Given the description of an element on the screen output the (x, y) to click on. 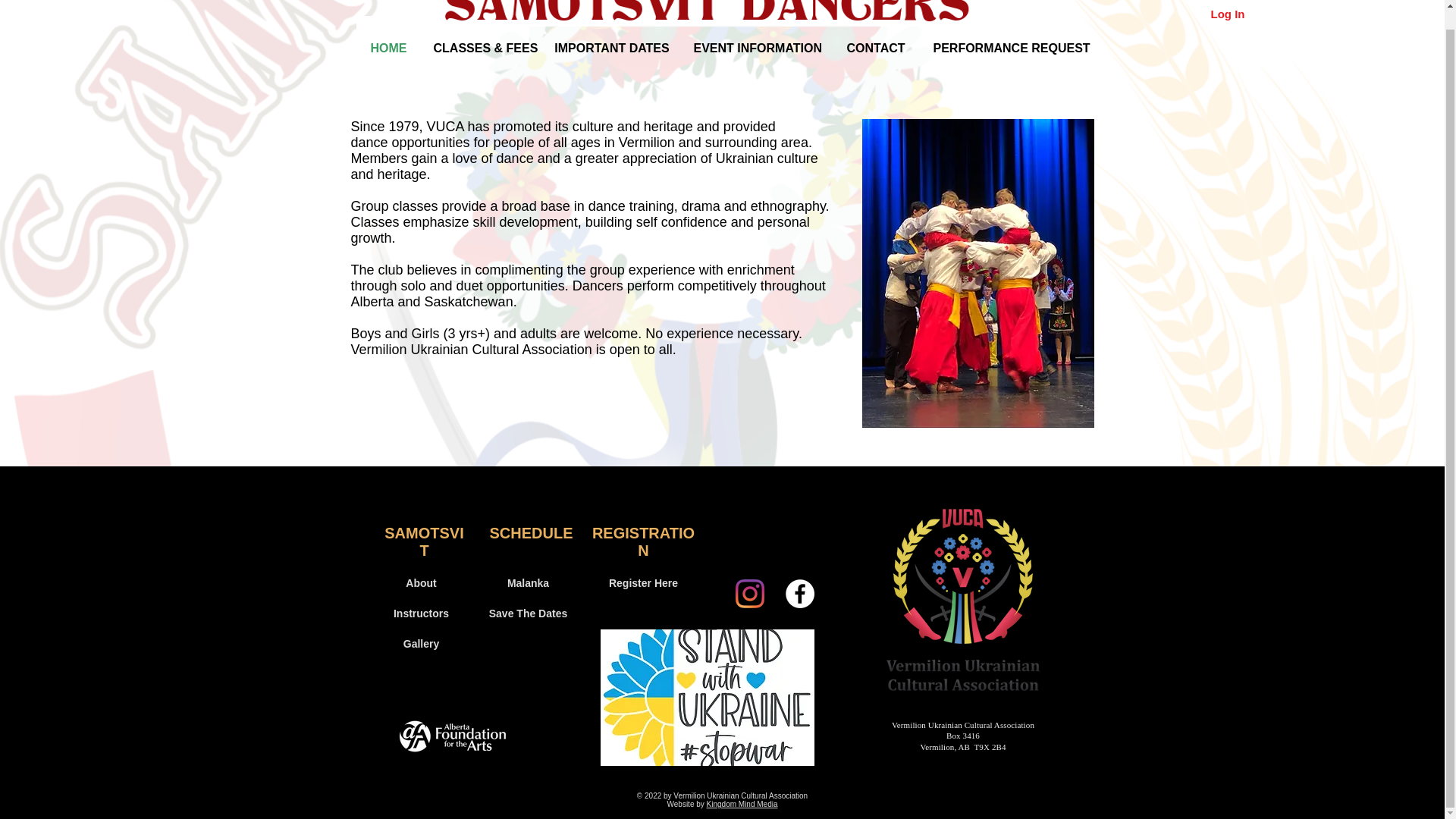
CONTACT (874, 47)
Save The Dates (527, 613)
PERFORMANCE REQUEST (1004, 47)
Malanka (527, 583)
Instructors (421, 613)
HOME (389, 47)
IMPORTANT DATES (611, 47)
About (421, 583)
Gallery (421, 644)
Kingdom Mind Media (741, 804)
Log In (1227, 12)
Register Here (643, 583)
